Given the description of an element on the screen output the (x, y) to click on. 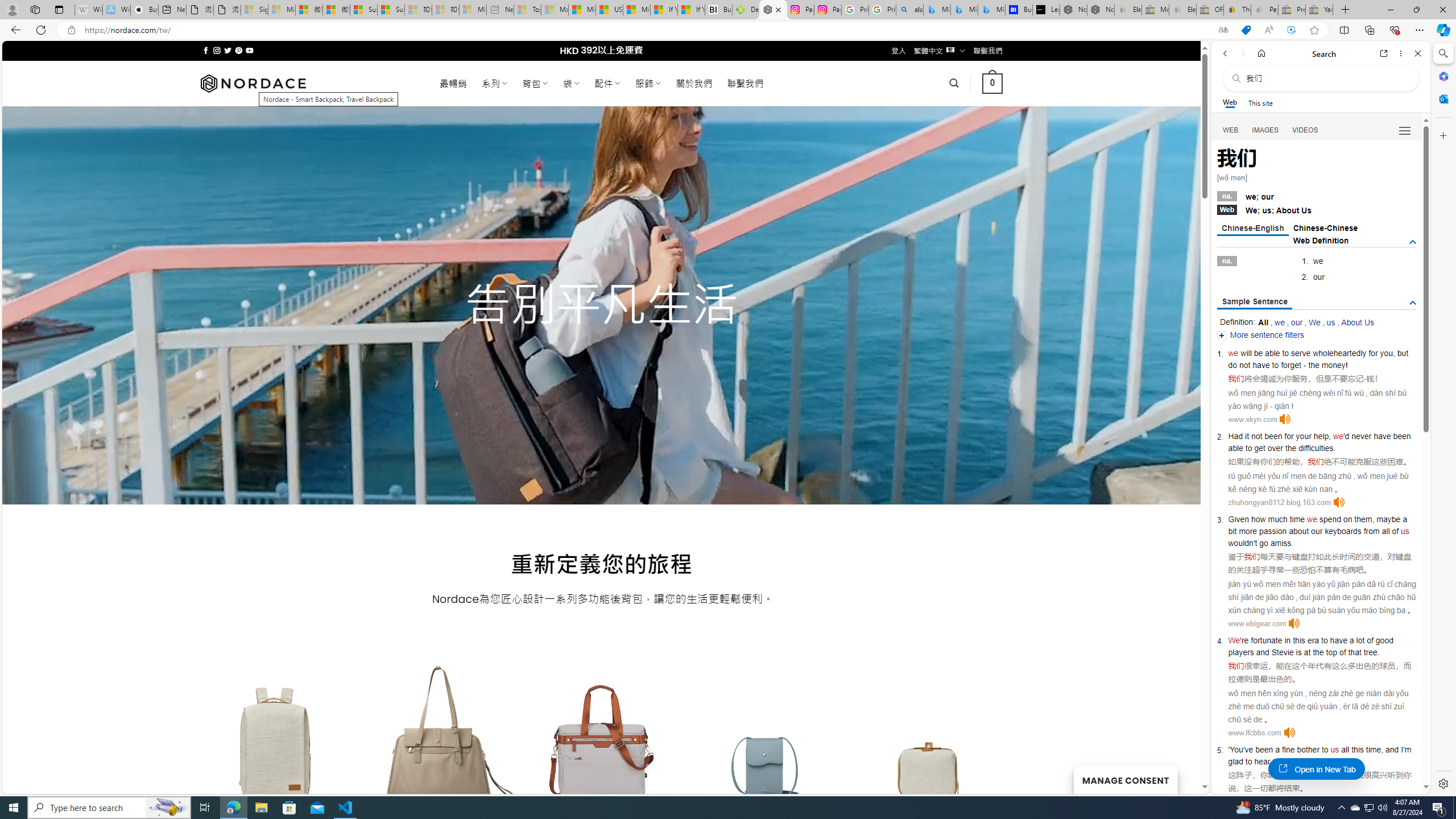
is (1298, 651)
Web Definition (1321, 240)
About Us (1357, 322)
over (1275, 447)
WEB (1231, 130)
Yard, Garden & Outdoor Living - Sleeping (1319, 9)
www.xkyn.com (1251, 419)
